Given the description of an element on the screen output the (x, y) to click on. 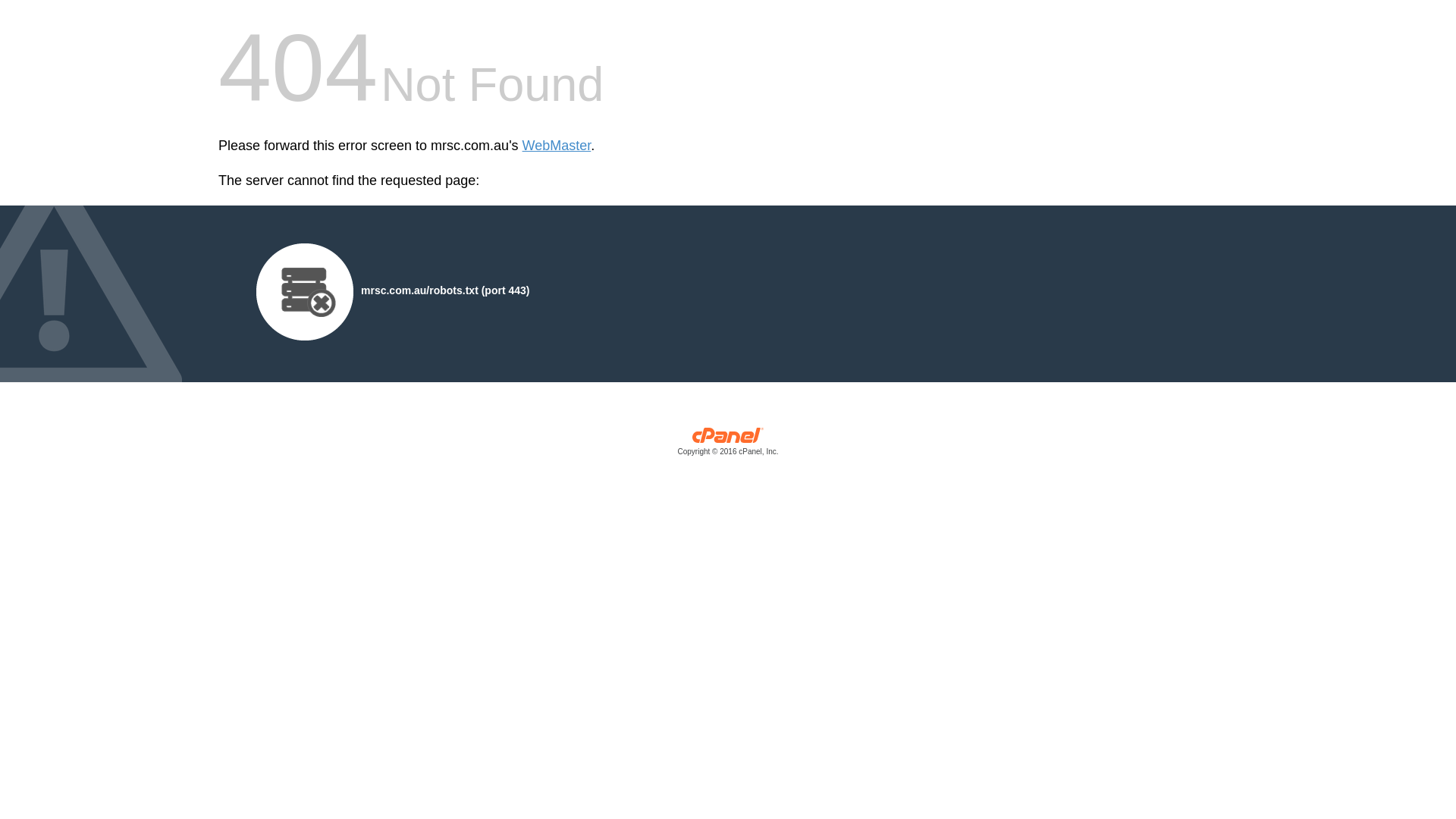
WebMaster Element type: text (556, 145)
